Given the description of an element on the screen output the (x, y) to click on. 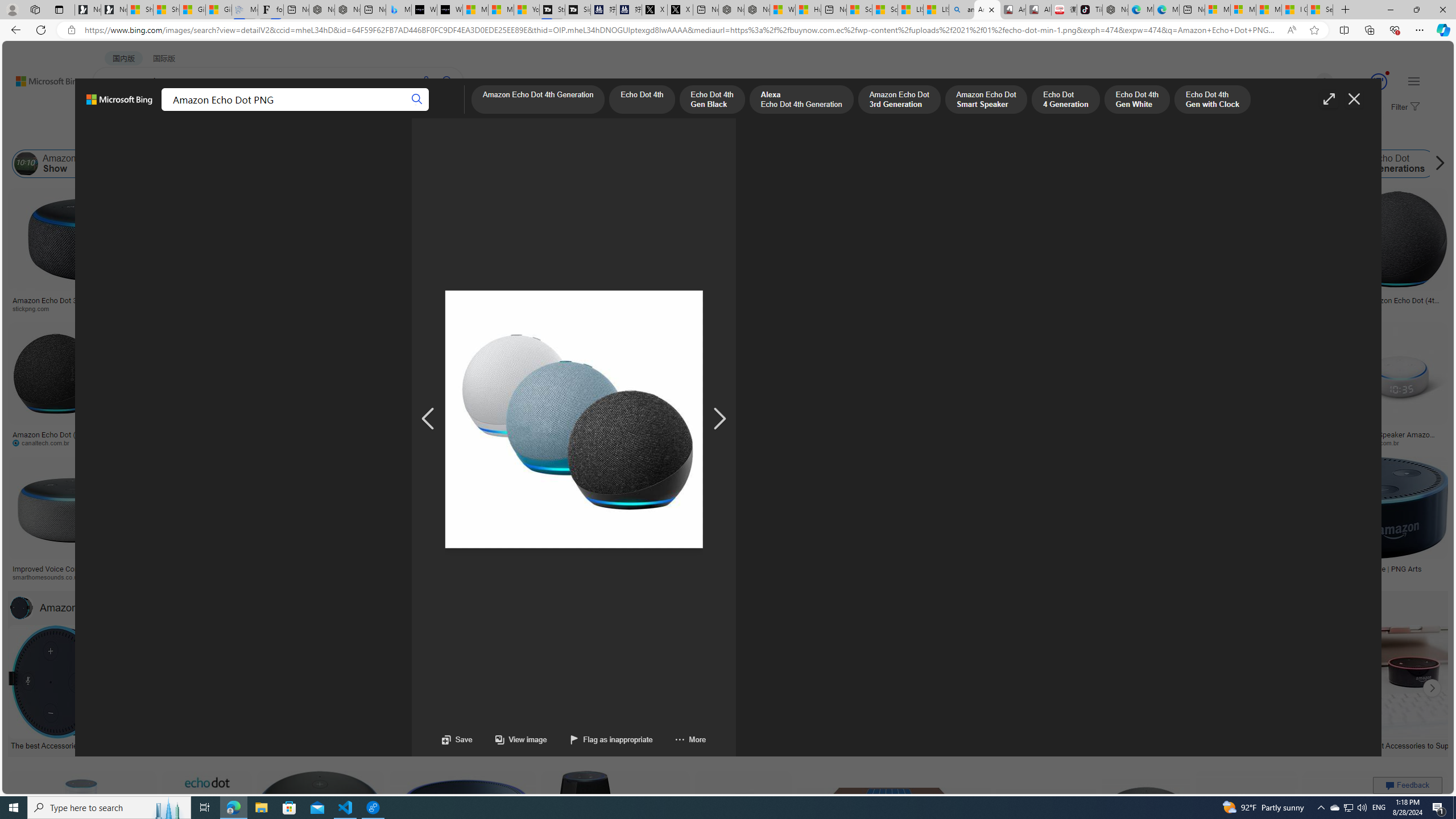
Smart Speaker Alexa Echo Dot (565, 296)
Amazon Alexa Echo (161, 163)
Alexa Echo Png Pic Png Arts Images (923, 299)
Layout (253, 135)
Android Central (413, 576)
Microsoft Rewards 147 (1364, 81)
